Given the description of an element on the screen output the (x, y) to click on. 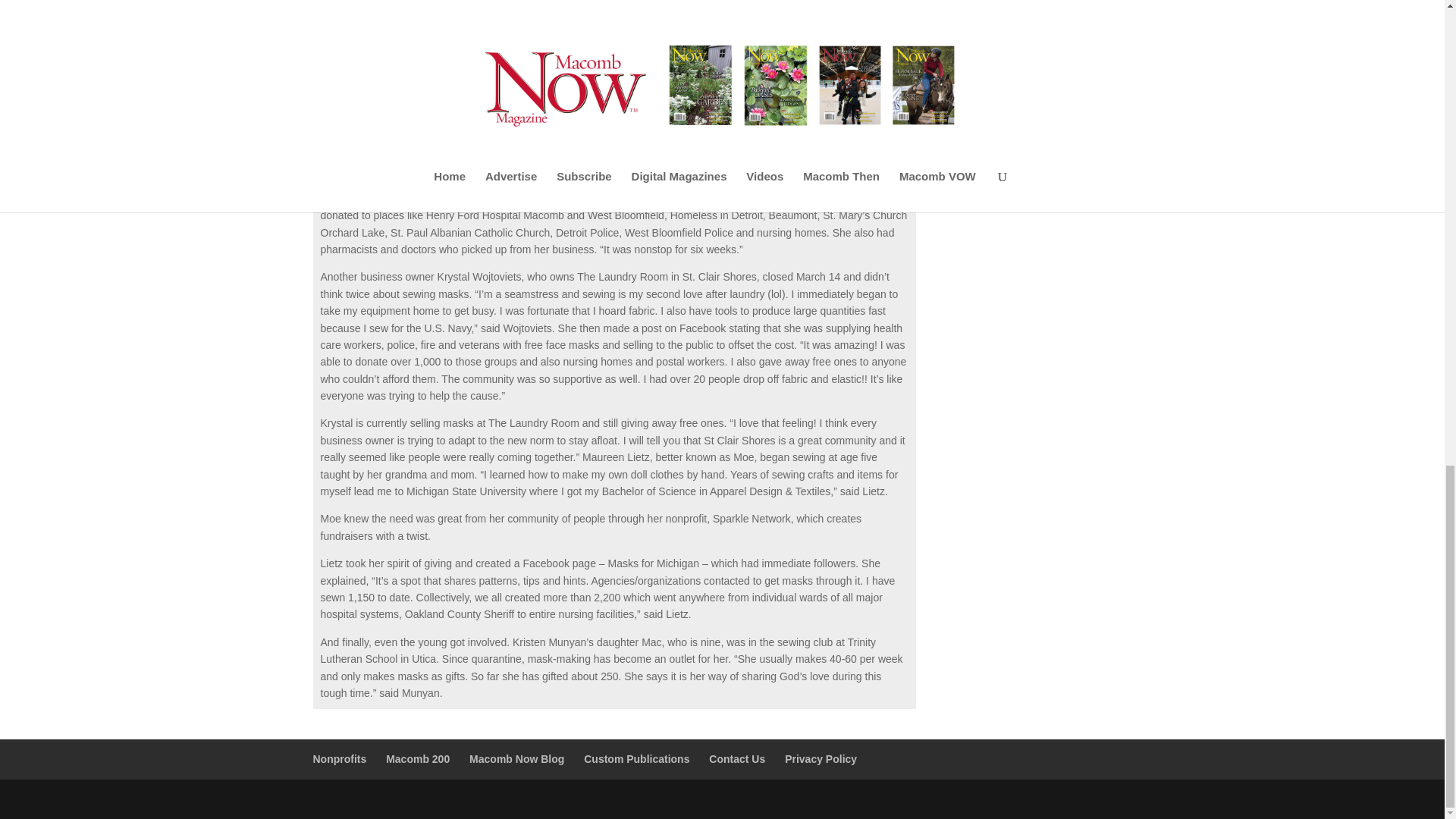
Macomb Now Blog (516, 758)
Contact Us (737, 758)
Nonprofits (339, 758)
Macomb 200 (417, 758)
Privacy Policy (820, 758)
Custom Publications (635, 758)
